Given the description of an element on the screen output the (x, y) to click on. 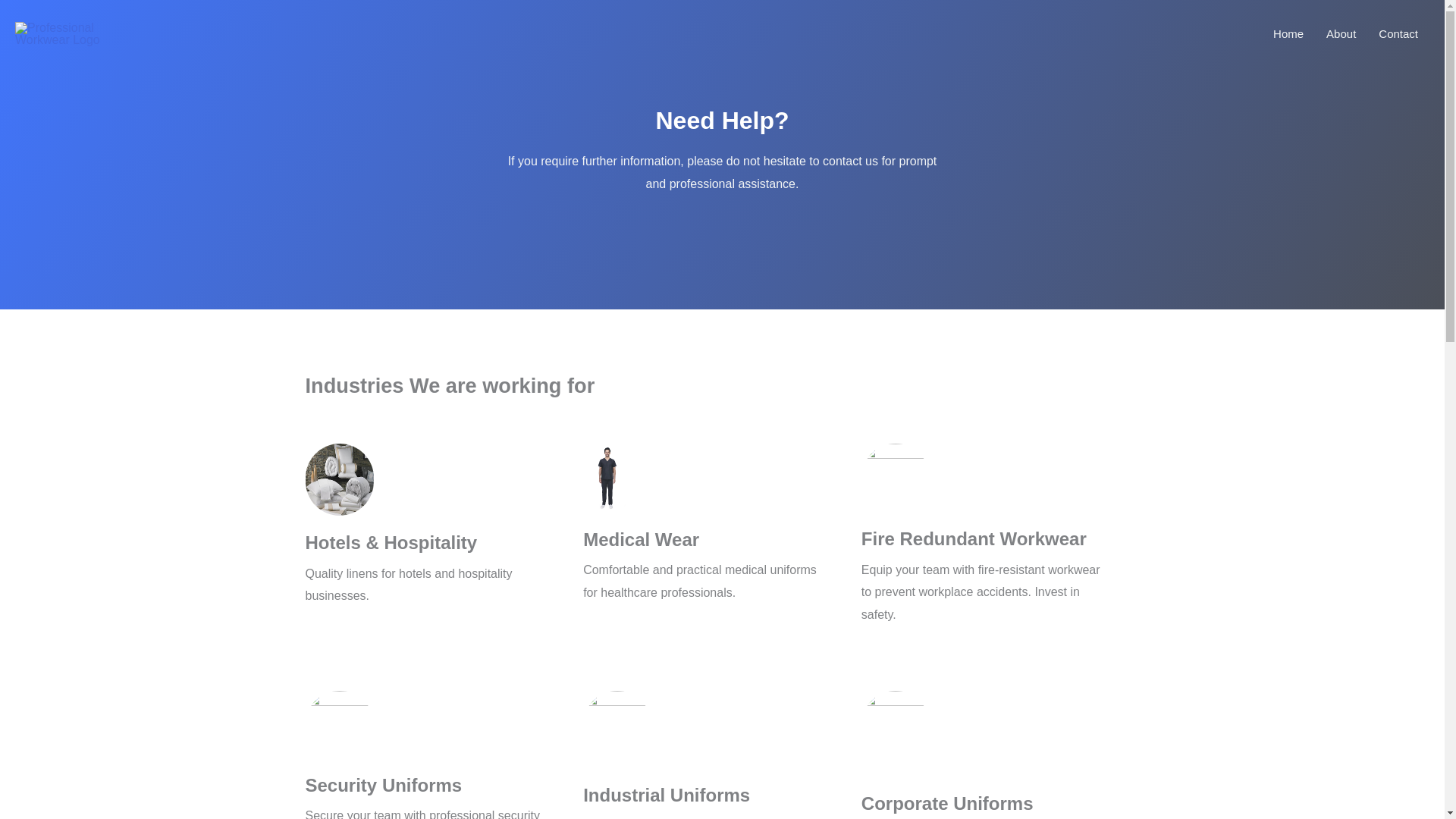
Contact (1398, 33)
About (1340, 33)
Home (1288, 33)
